Given the description of an element on the screen output the (x, y) to click on. 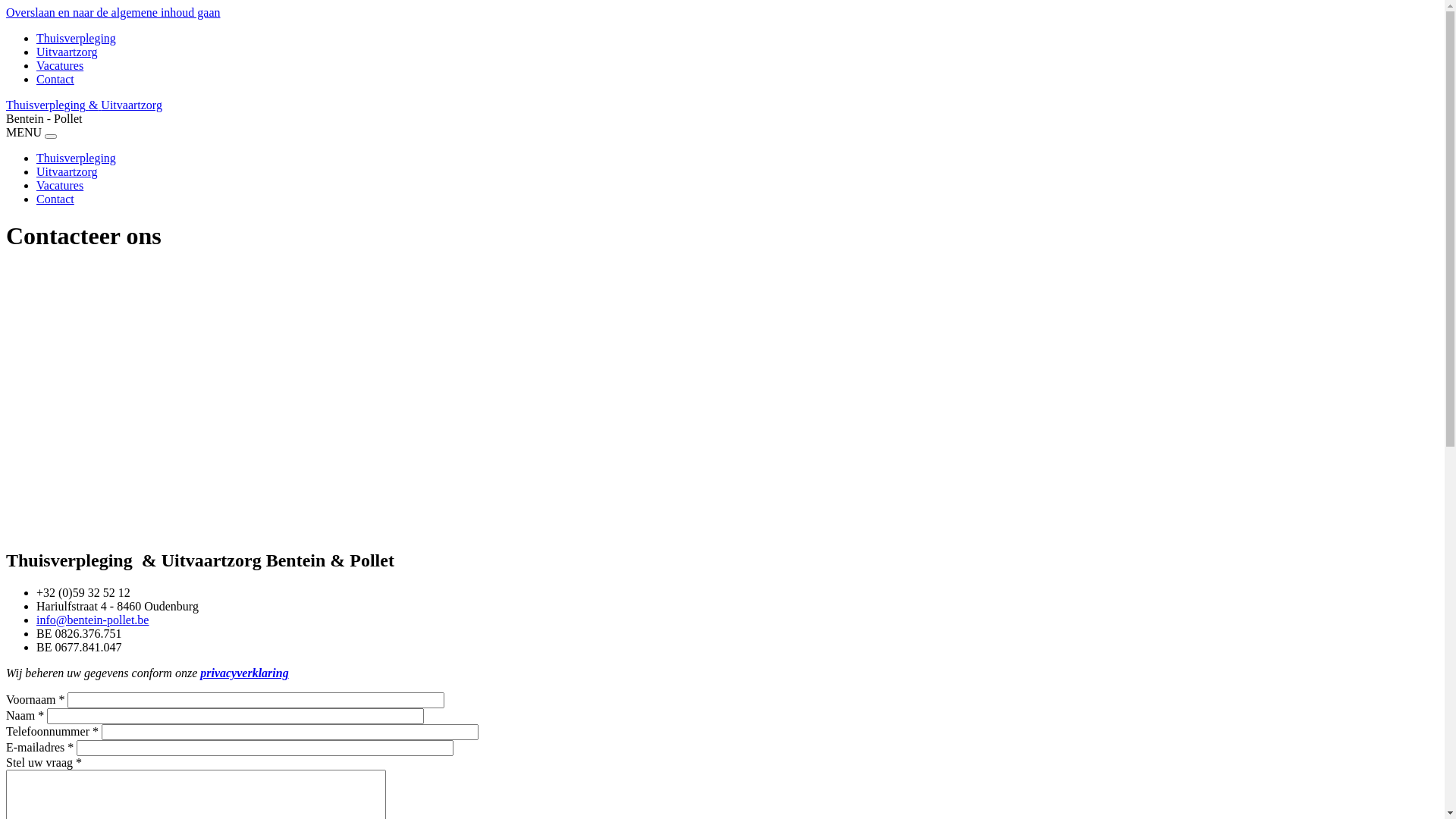
Uitvaartzorg Element type: text (66, 51)
Thuisverpleging Element type: text (76, 37)
Uitvaartzorg Element type: text (66, 171)
privacyverklaring Element type: text (244, 672)
Contact Element type: text (55, 78)
Vacatures Element type: text (59, 65)
info@bentein-pollet.be Element type: text (92, 619)
Vacatures Element type: text (59, 184)
Thuisverpleging Element type: text (76, 157)
Thuisverpleging & Uitvaartzorg Element type: text (722, 105)
Contact Element type: text (55, 198)
Overslaan en naar de algemene inhoud gaan Element type: text (113, 12)
